Given the description of an element on the screen output the (x, y) to click on. 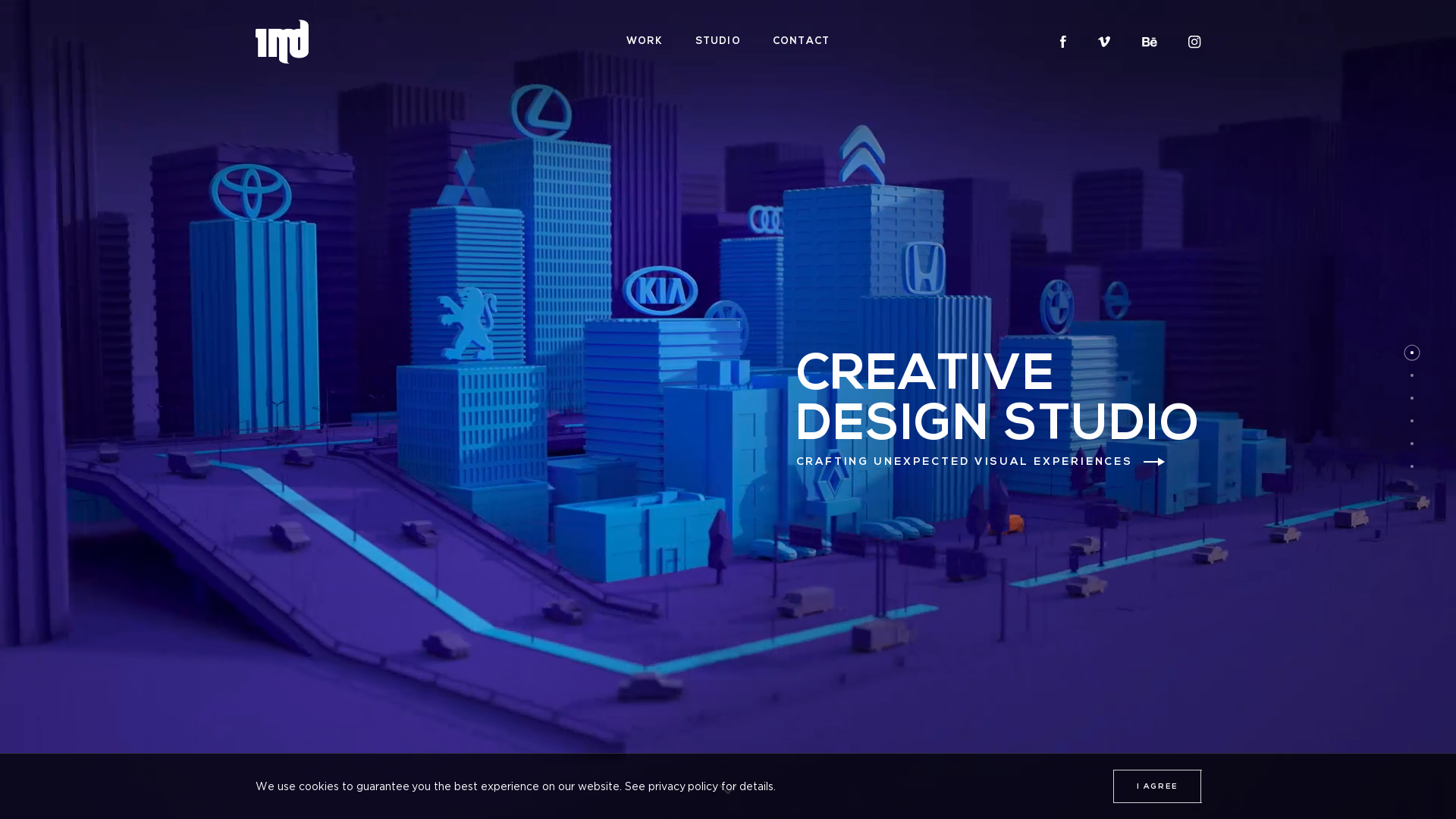
STUDIO Element type: text (717, 41)
WORK Element type: text (644, 41)
CONTACT Element type: text (800, 41)
I
  A
G
R
E
E Element type: text (1156, 786)
